Given the description of an element on the screen output the (x, y) to click on. 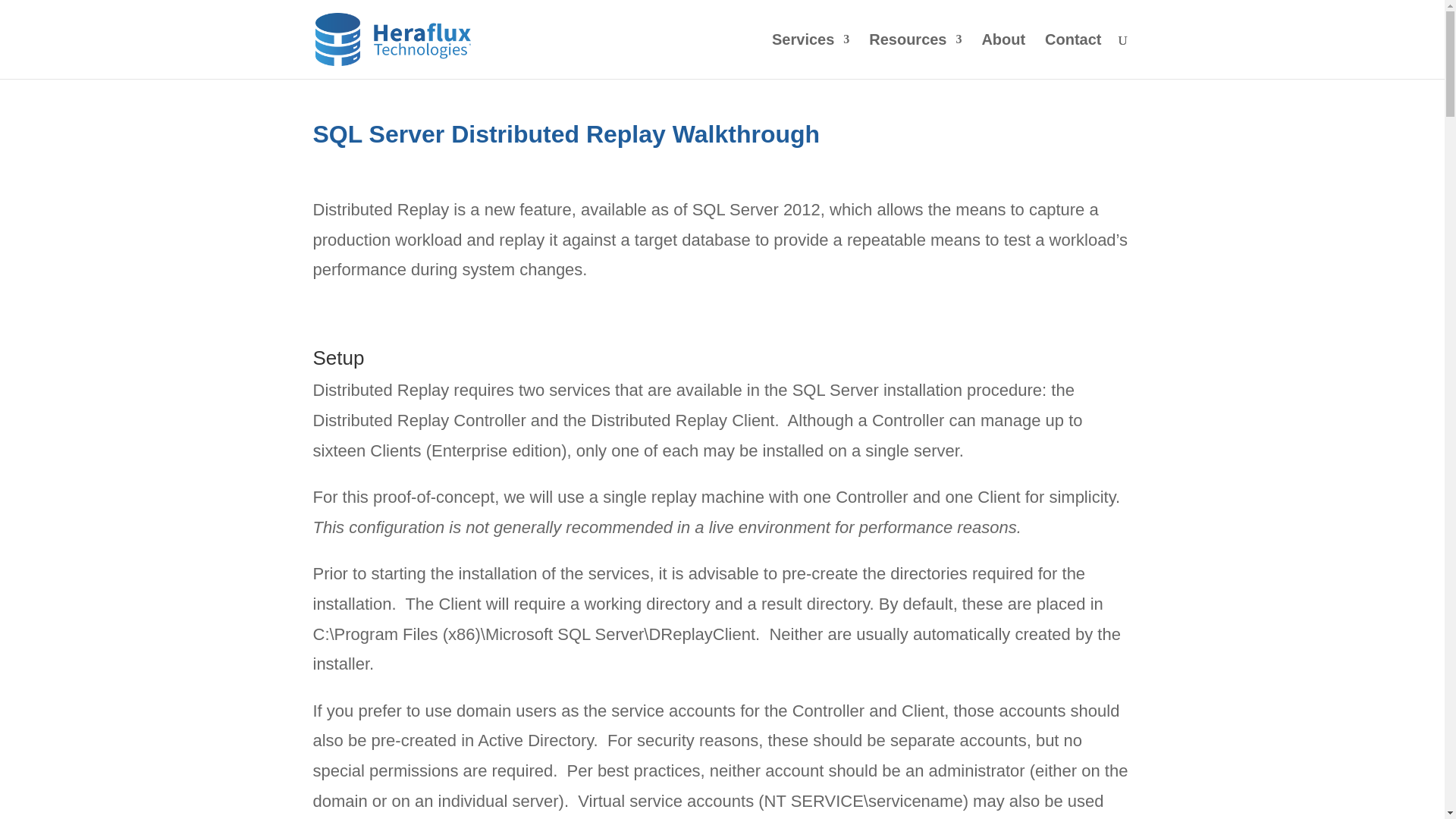
Contact (1072, 56)
Services (809, 56)
Resources (914, 56)
About (1003, 56)
